Given the description of an element on the screen output the (x, y) to click on. 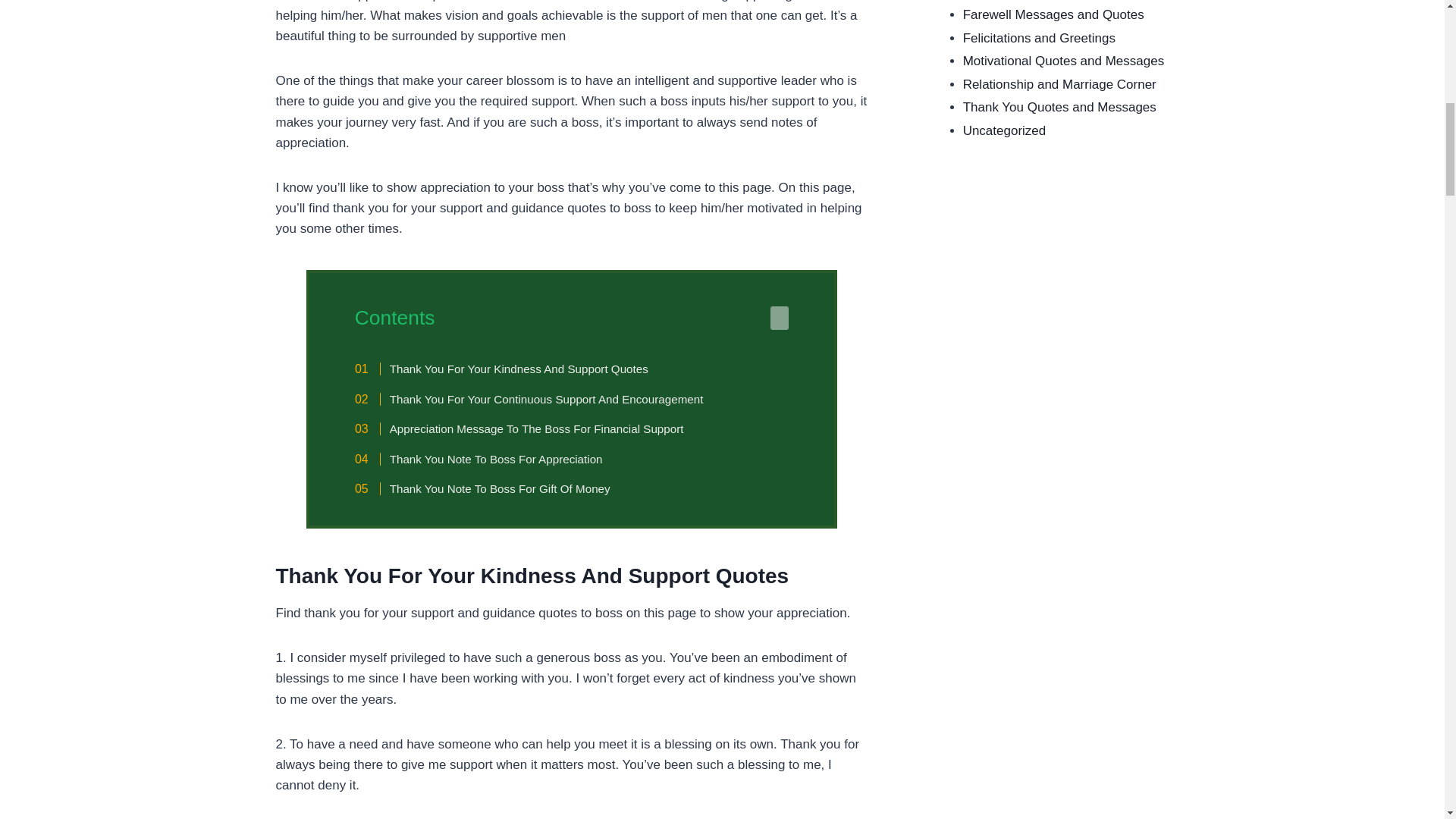
Thank You Note To Boss For Gift Of Money (490, 488)
Appreciation Message To The Boss For Financial Support (527, 429)
Thank You For Your Continuous Support And Encouragement (537, 399)
Thank You Note To Boss For Appreciation (486, 459)
Thank You For Your Kindness And Support Quotes (509, 369)
